Given the description of an element on the screen output the (x, y) to click on. 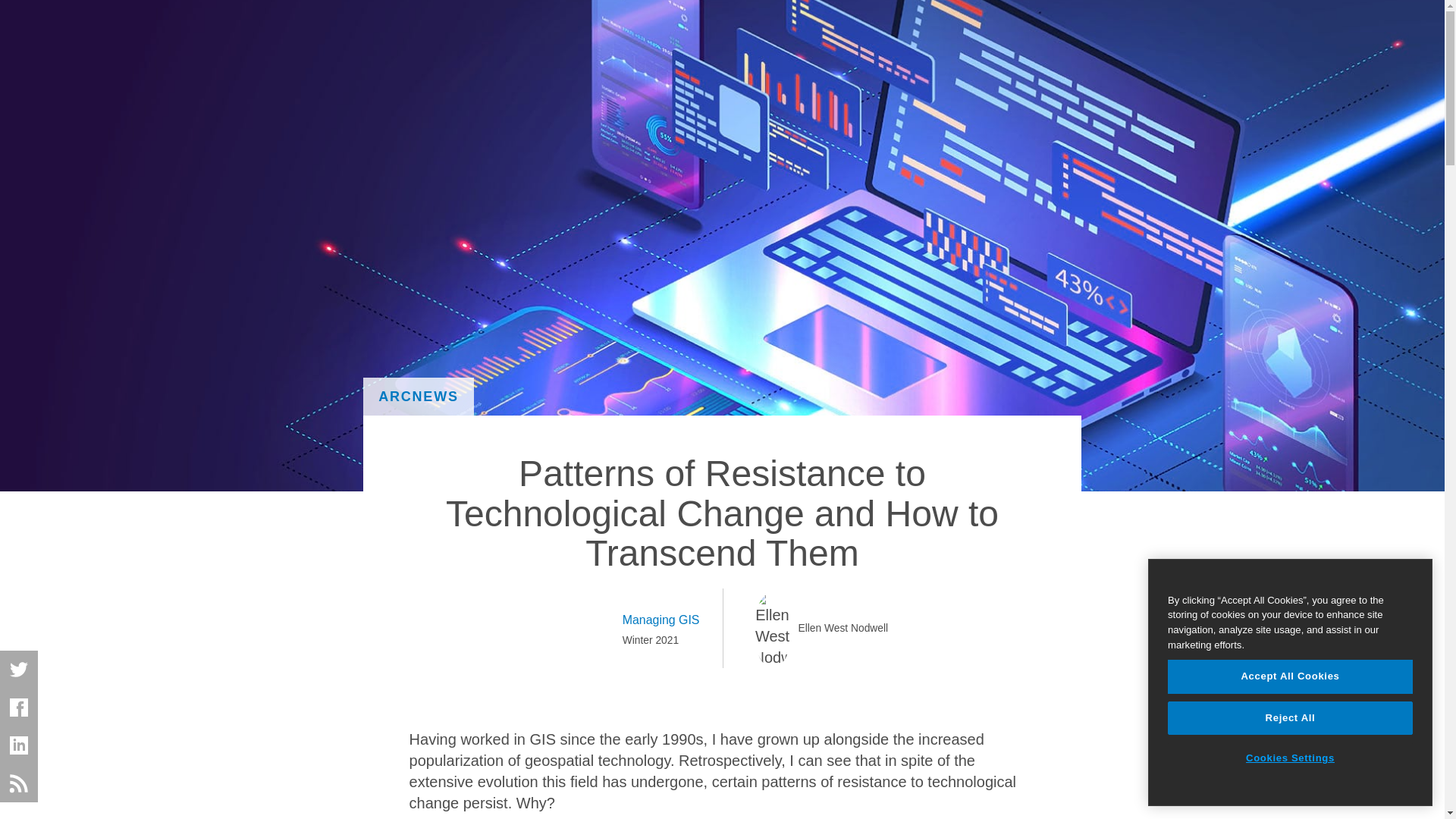
Managing GIS (661, 619)
ARCNEWS (418, 396)
Accept All Cookies (1289, 676)
Reject All (1289, 717)
Cookies Settings (1289, 757)
